Given the description of an element on the screen output the (x, y) to click on. 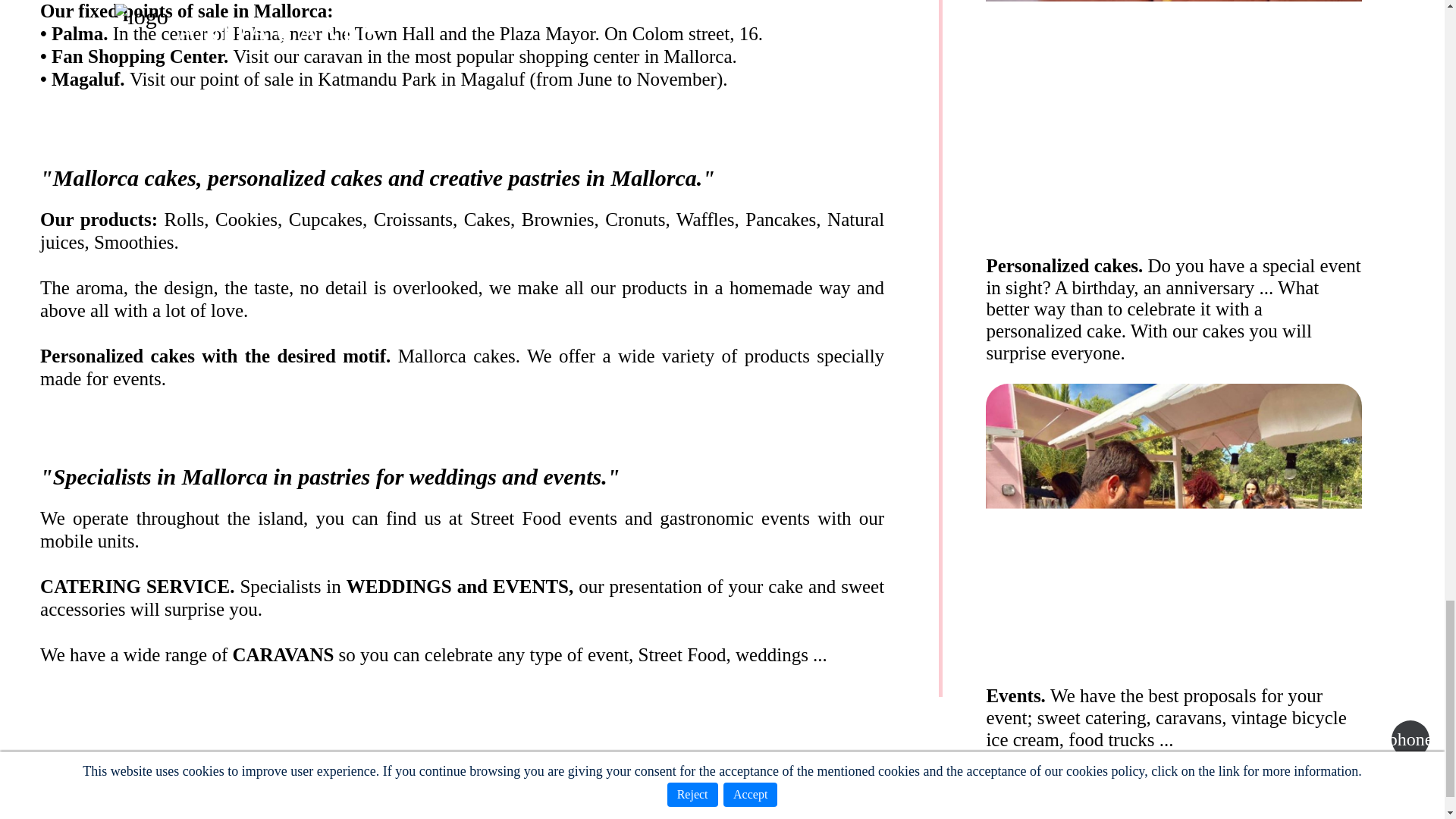
685431401 (664, 789)
Cookies policy (698, 818)
Acceptance of cookies (828, 818)
Privacy Policy (591, 818)
